Given the description of an element on the screen output the (x, y) to click on. 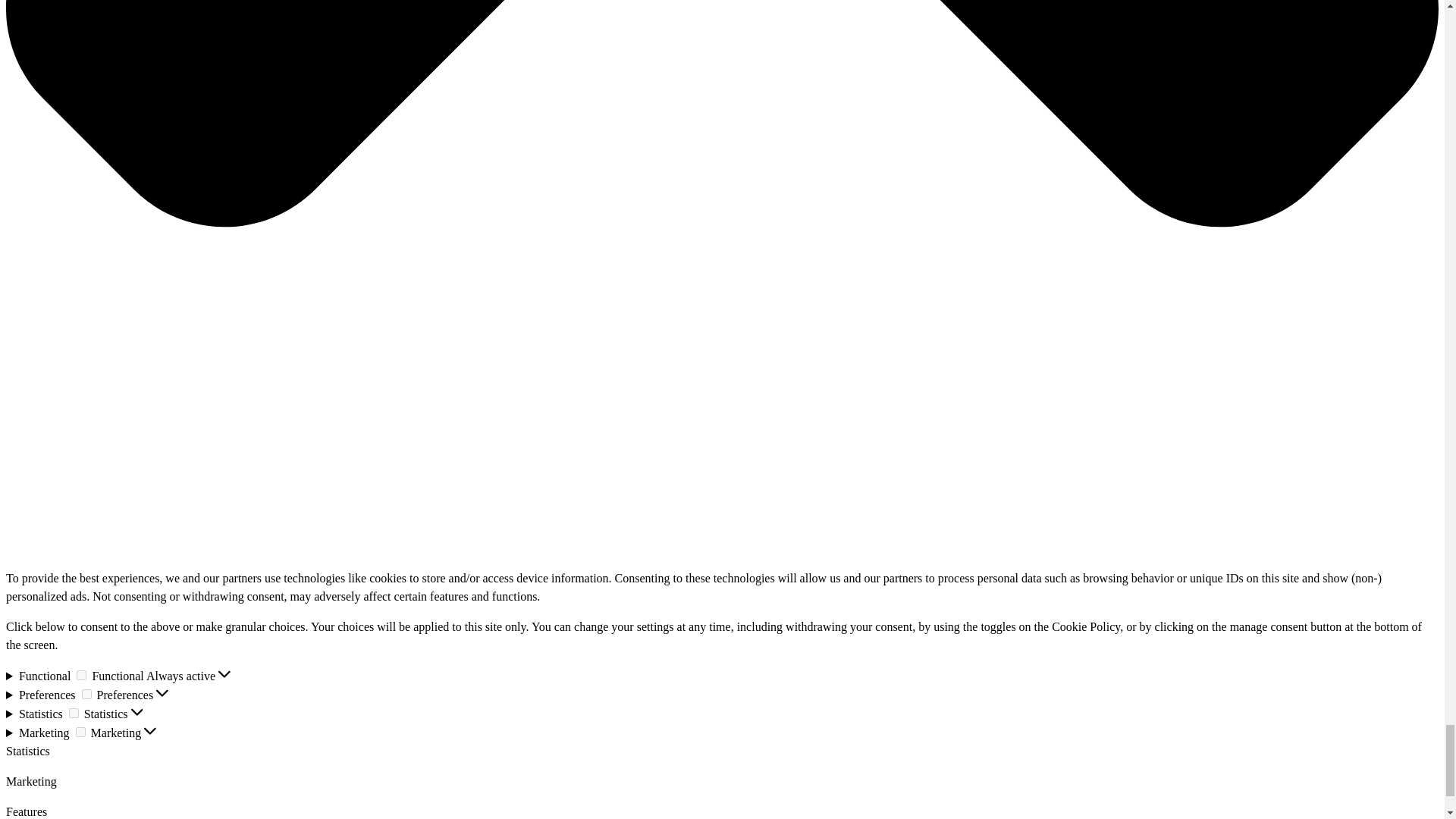
1 (80, 732)
1 (81, 675)
1 (73, 713)
1 (86, 694)
